Given the description of an element on the screen output the (x, y) to click on. 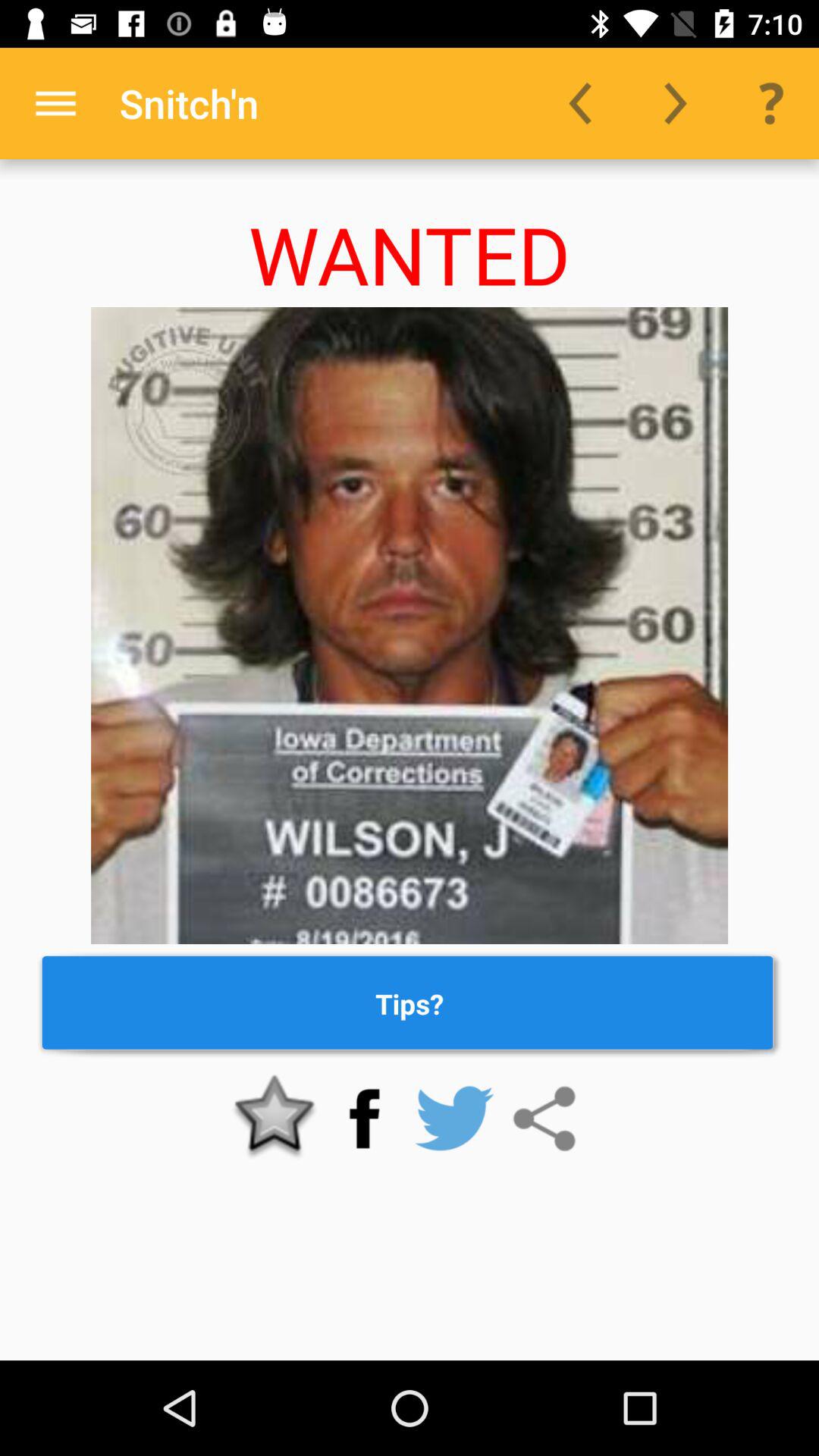
tweet link (454, 1118)
